Given the description of an element on the screen output the (x, y) to click on. 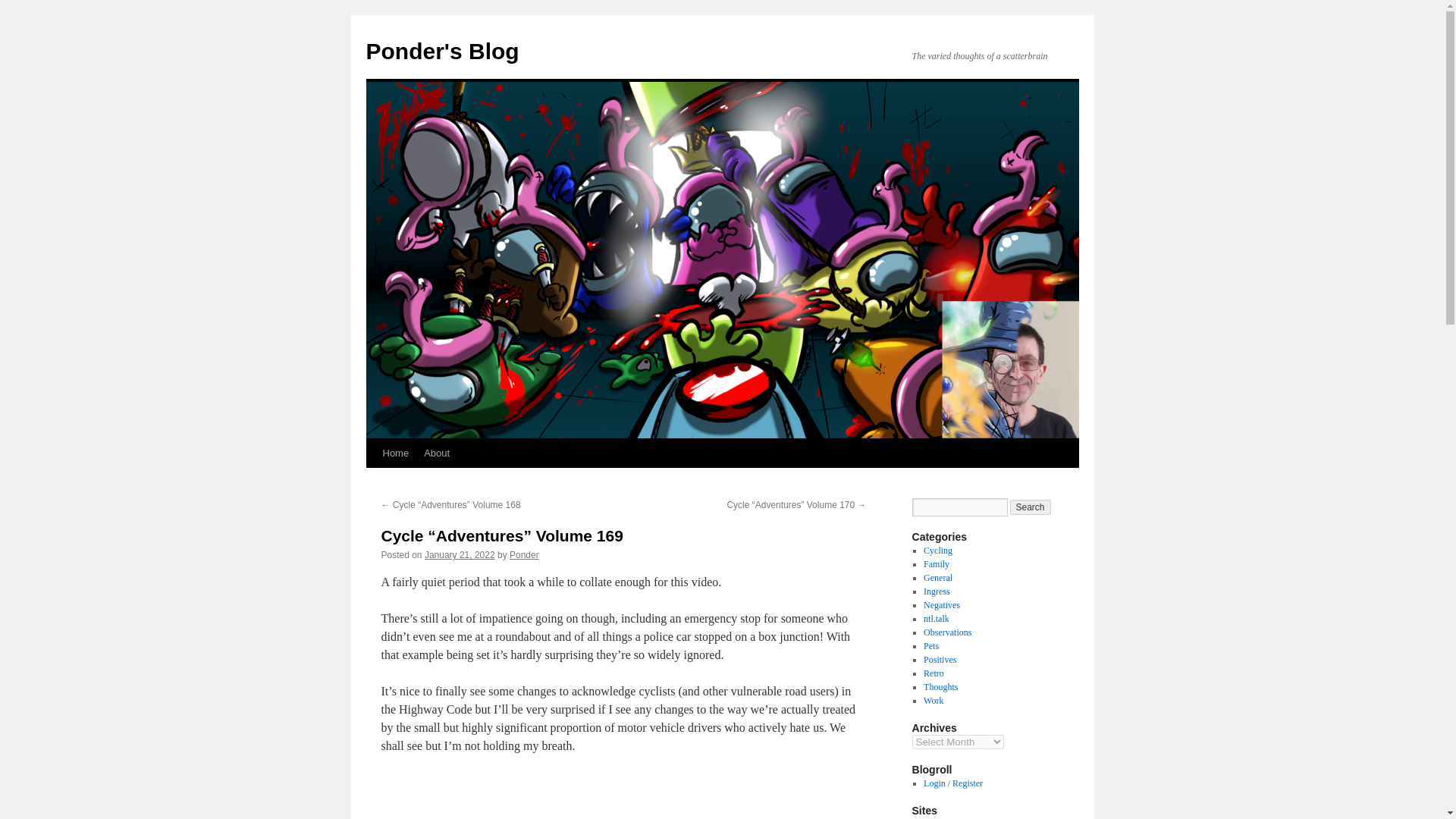
View all posts by Ponder (523, 554)
About (436, 452)
Ponder's Blog (441, 50)
Retro (933, 673)
Negatives (941, 604)
Cycling (937, 550)
Ponder (523, 554)
Work (933, 700)
Cycle "Adventures" Volume 169 (623, 796)
ntl.talk (936, 618)
Pets (931, 645)
Login or Register here (952, 783)
Family (936, 563)
General (937, 577)
Search (1030, 507)
